Given the description of an element on the screen output the (x, y) to click on. 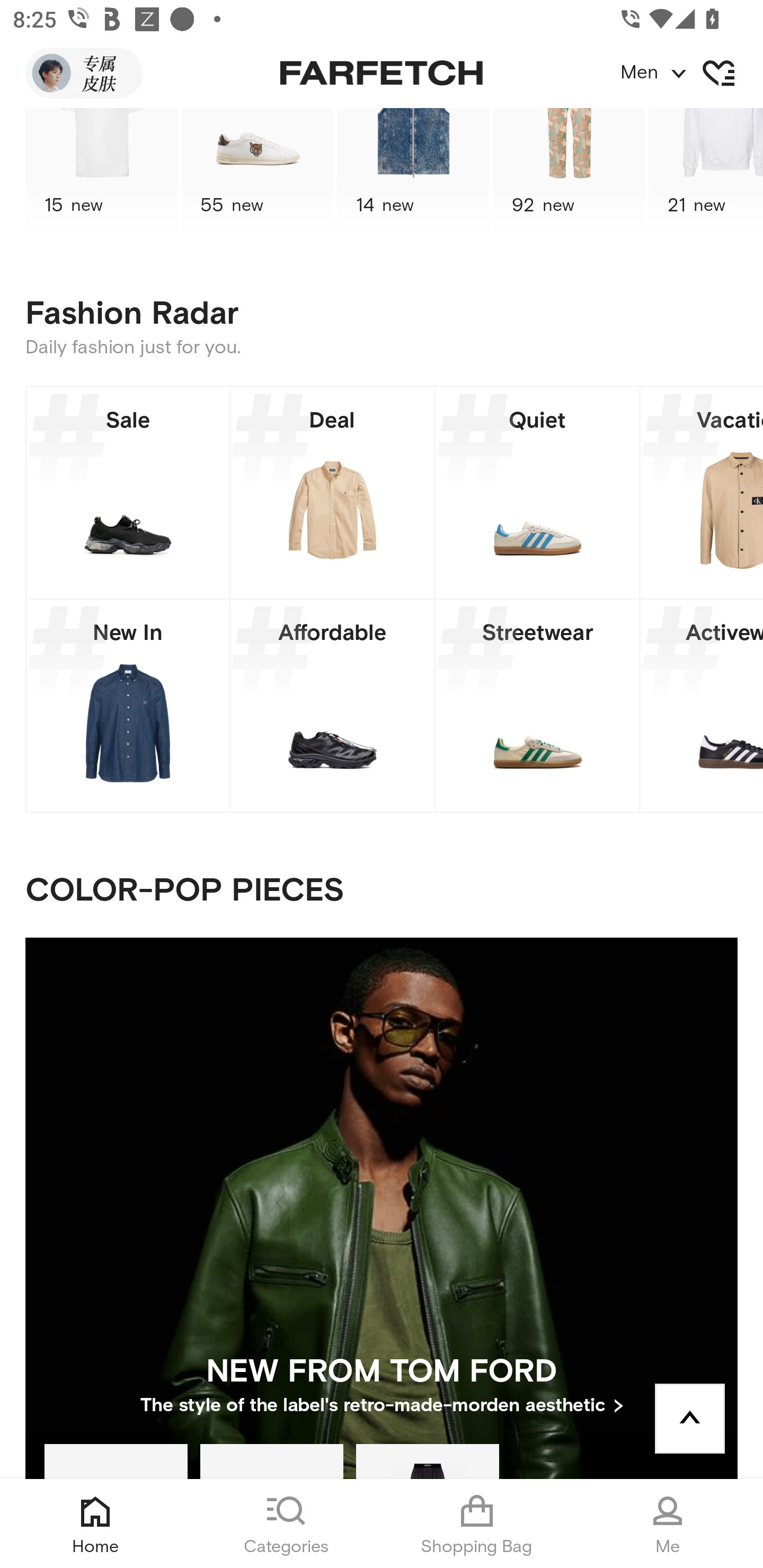
Men (691, 72)
Philipp Plein 15  new (101, 172)
Polo Ralph Lauren 55  new (257, 172)
Diesel 14  new (413, 172)
Acne Studios 92  new (568, 172)
Stone Island 21  new (705, 172)
Sale (127, 492)
Deal (332, 492)
Quiet (537, 492)
Vacation (701, 492)
New In (127, 705)
Affordable (332, 705)
Streetwear (537, 705)
Activewear (701, 705)
Categories (285, 1523)
Shopping Bag (476, 1523)
Me (667, 1523)
